Given the description of an element on the screen output the (x, y) to click on. 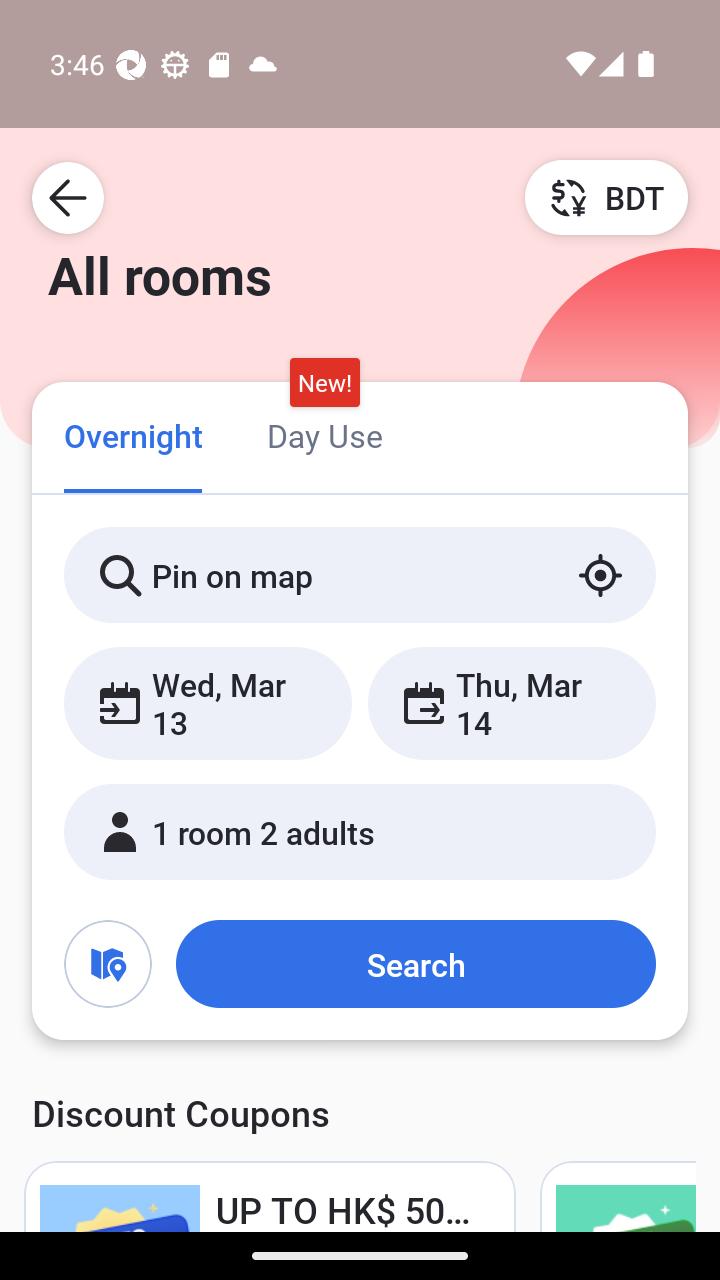
BDT (606, 197)
New! (324, 383)
Day Use (324, 434)
Pin on map (359, 575)
Wed, Mar 13 (208, 703)
Thu, Mar 14 (511, 703)
1 room 2 adults (359, 831)
Search (415, 964)
